Given the description of an element on the screen output the (x, y) to click on. 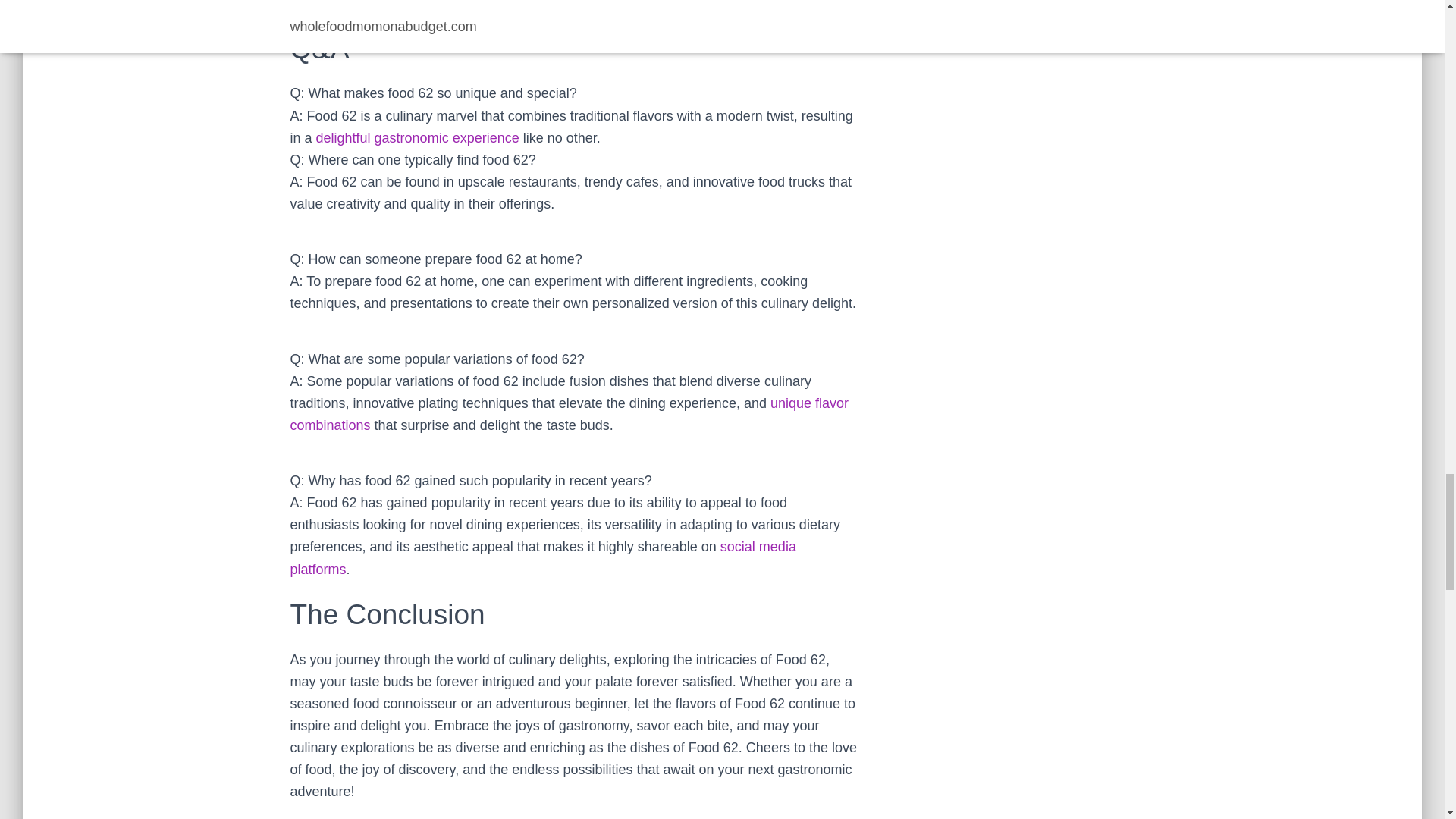
social media platforms (541, 557)
unique flavor combinations (568, 414)
food court (541, 557)
eating on a budget helsinki (417, 137)
delightful gastronomic experience (417, 137)
food 3d printer (568, 414)
